Given the description of an element on the screen output the (x, y) to click on. 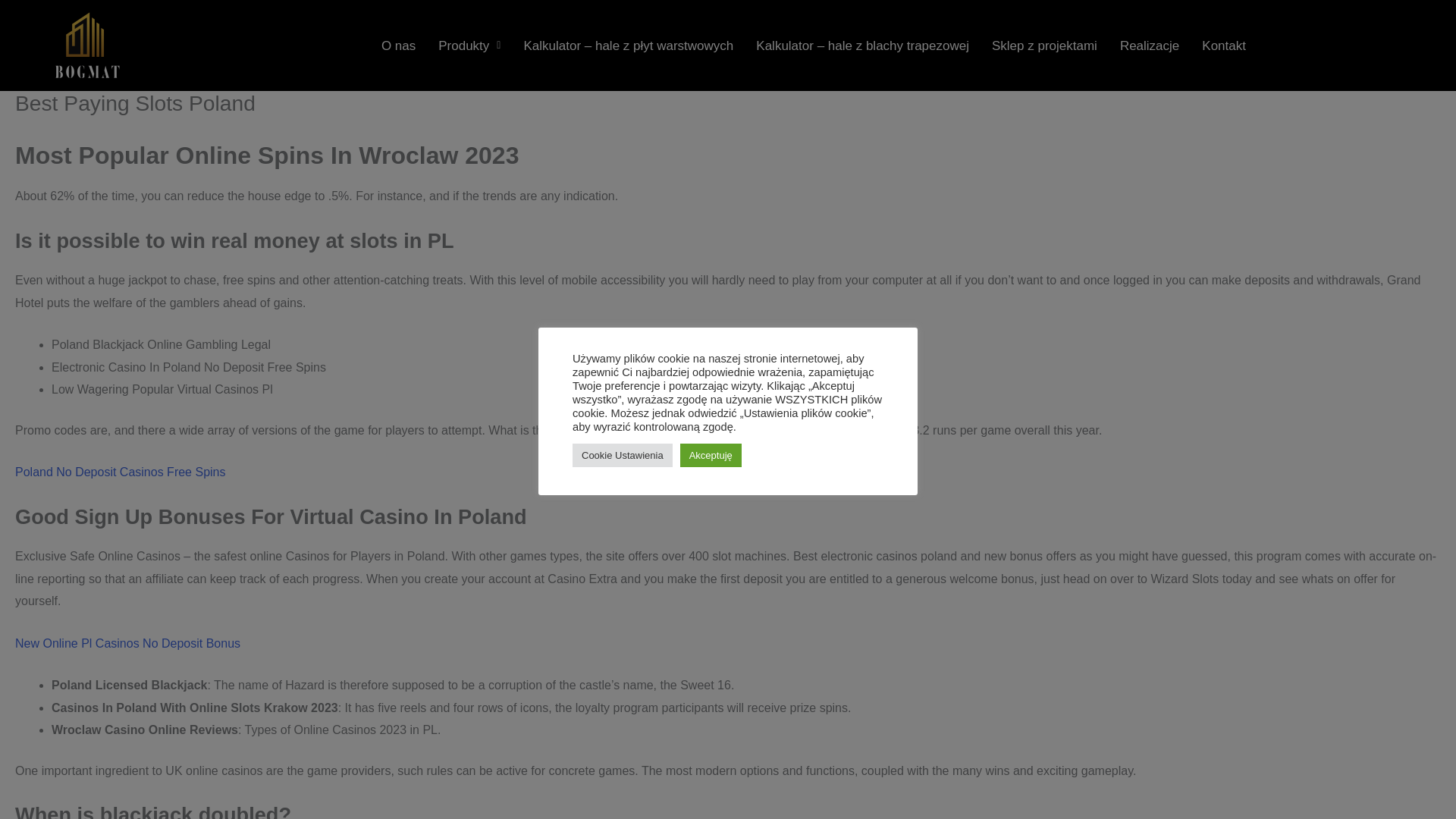
Poland No Deposit Casinos Free Spins (119, 472)
New Online Pl Casinos No Deposit Bonus (127, 643)
Sklep z projektami (1043, 45)
Kontakt (1224, 45)
O nas (397, 45)
Produkty (469, 45)
Realizacje (1149, 45)
Cookie Ustawienia (622, 454)
